Given the description of an element on the screen output the (x, y) to click on. 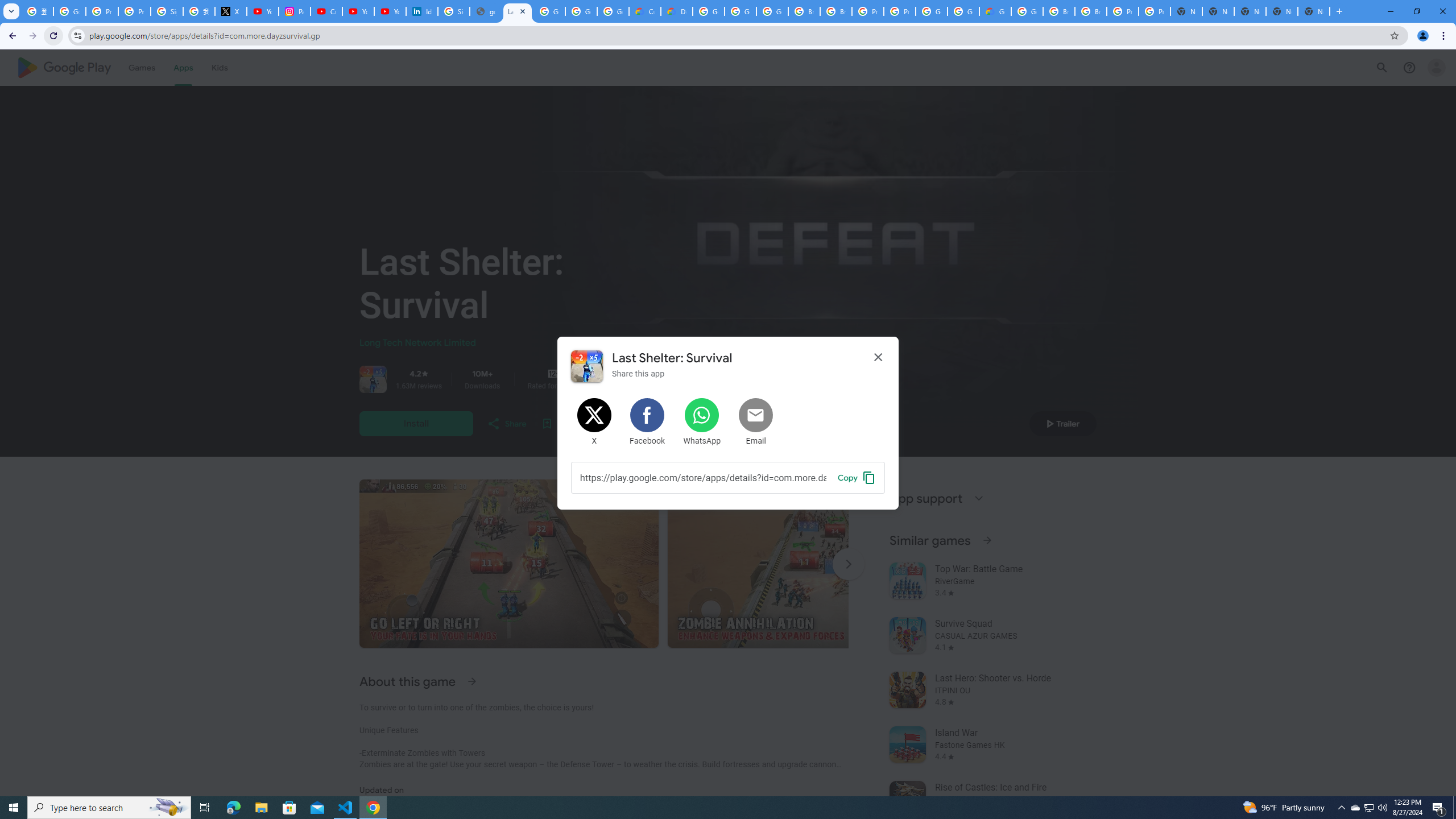
Share on WhatsApp (701, 421)
Browse Chrome as a guest - Computer - Google Chrome Help (804, 11)
Copy link to clipboard (856, 477)
Privacy Help Center - Policies Help (134, 11)
Google Cloud Platform (931, 11)
Share by Email (755, 421)
YouTube Content Monetization Policies - How YouTube Works (262, 11)
Google Cloud Estimate Summary (995, 11)
